Given the description of an element on the screen output the (x, y) to click on. 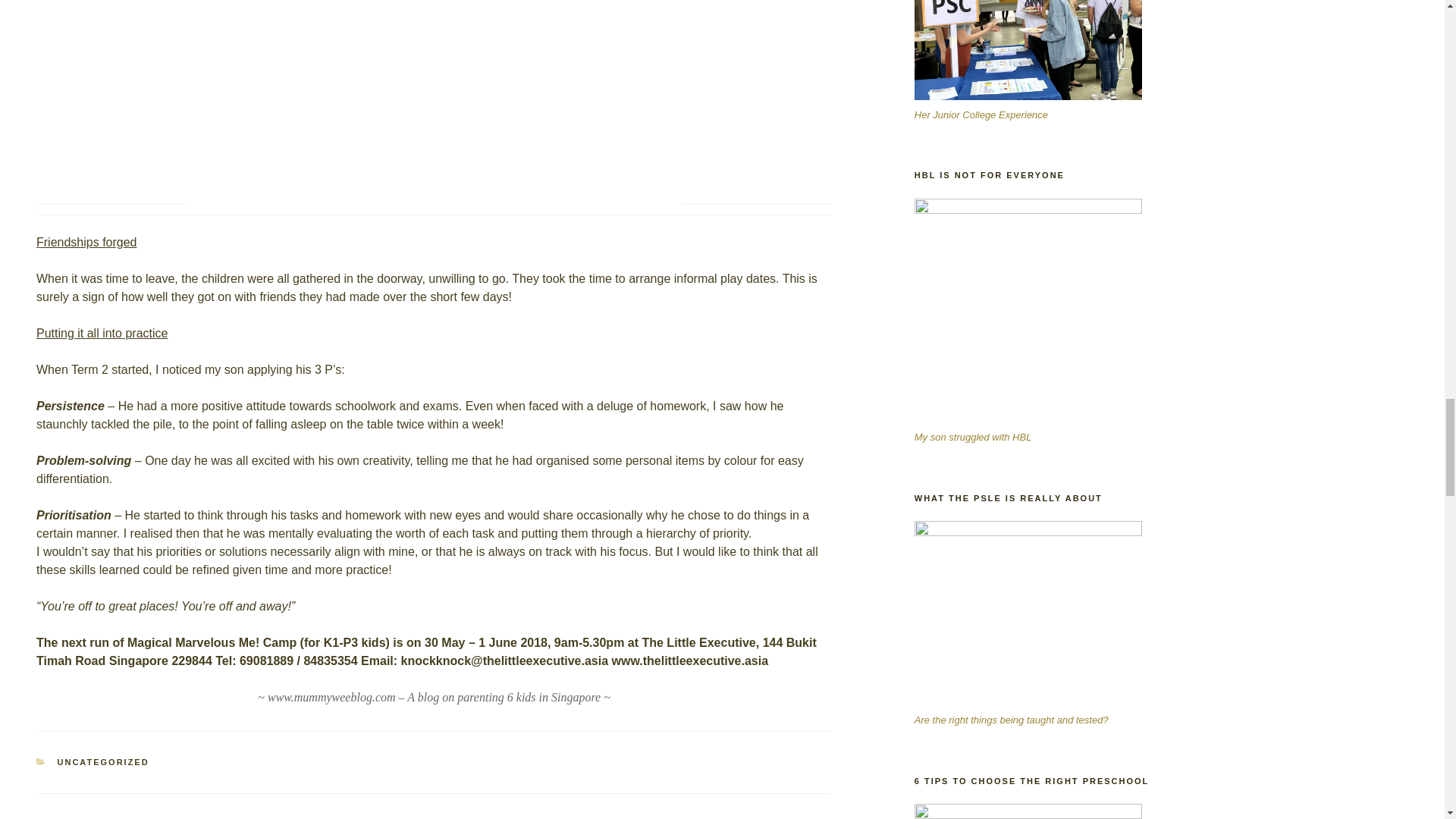
PSC Scholarship? Wow (1027, 49)
UNCATEGORIZED (103, 761)
WHAT THE PSLE IS REALLY ABOUT (1027, 612)
